Given the description of an element on the screen output the (x, y) to click on. 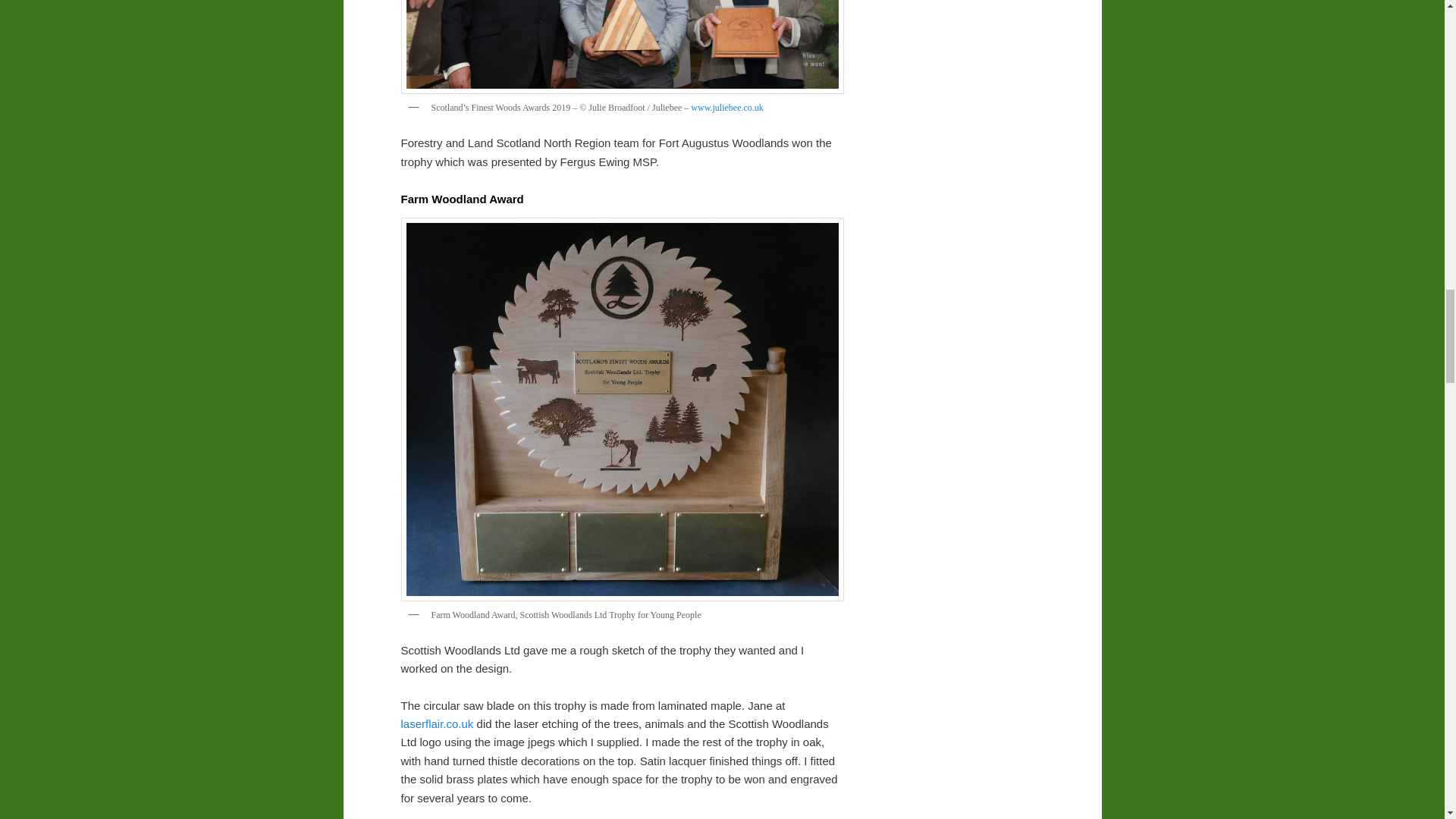
laserflair.co.uk (436, 723)
www.juliebee.co.uk (725, 107)
